Given the description of an element on the screen output the (x, y) to click on. 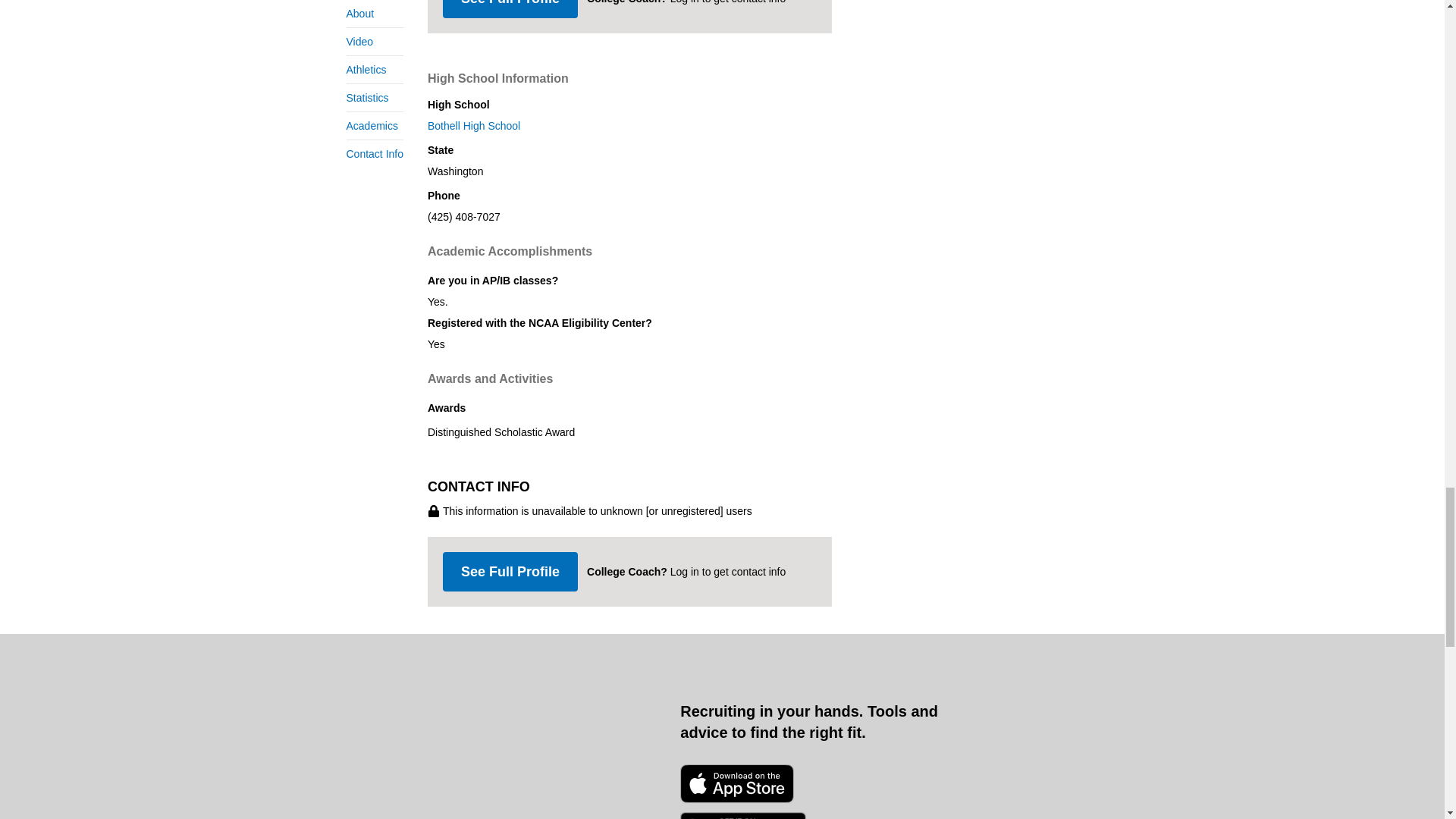
See Full Profile (510, 571)
Bothell High School (629, 125)
See Full Profile (510, 9)
